Given the description of an element on the screen output the (x, y) to click on. 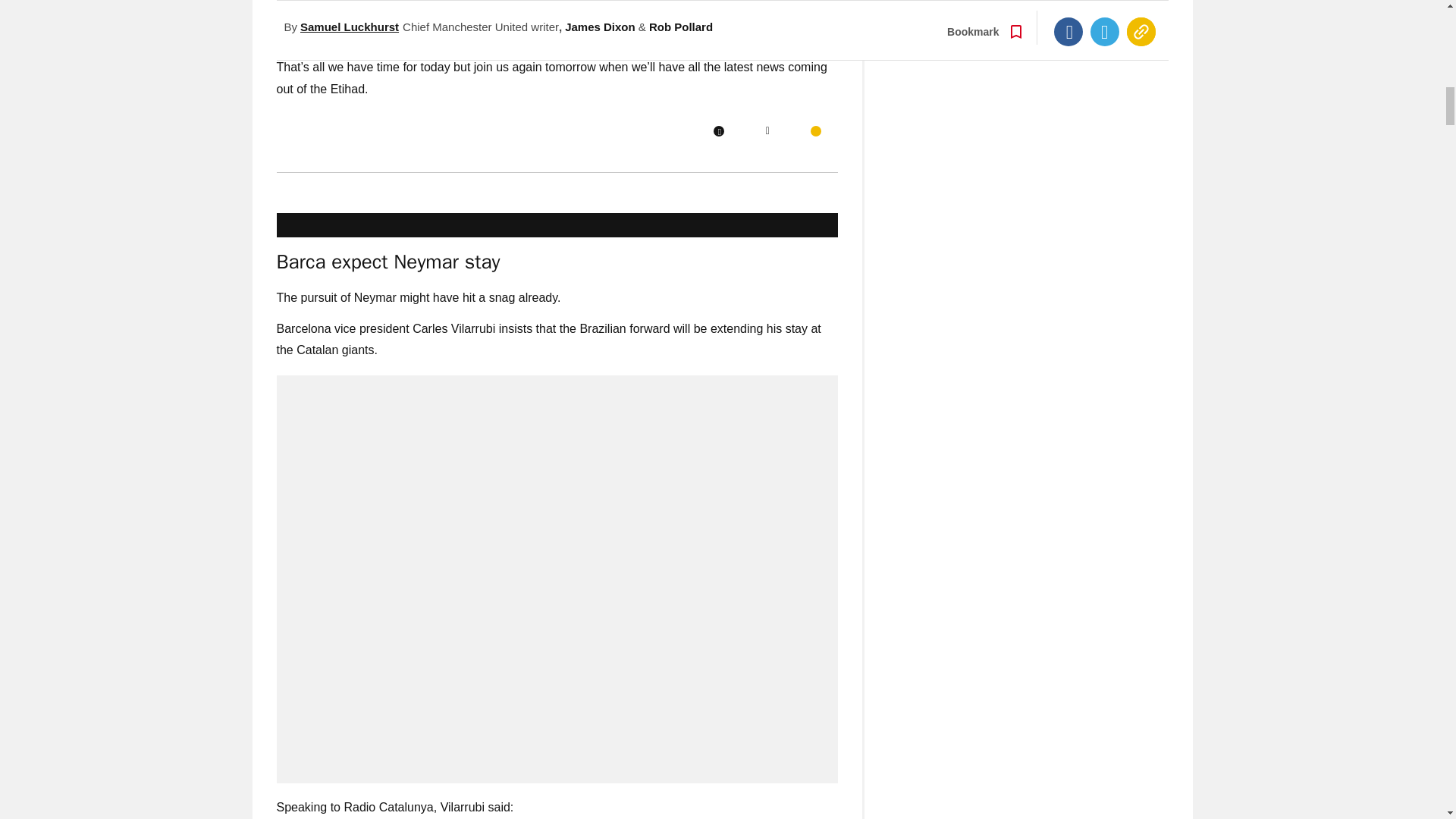
Facebook (718, 131)
Twitter (767, 131)
